Given the description of an element on the screen output the (x, y) to click on. 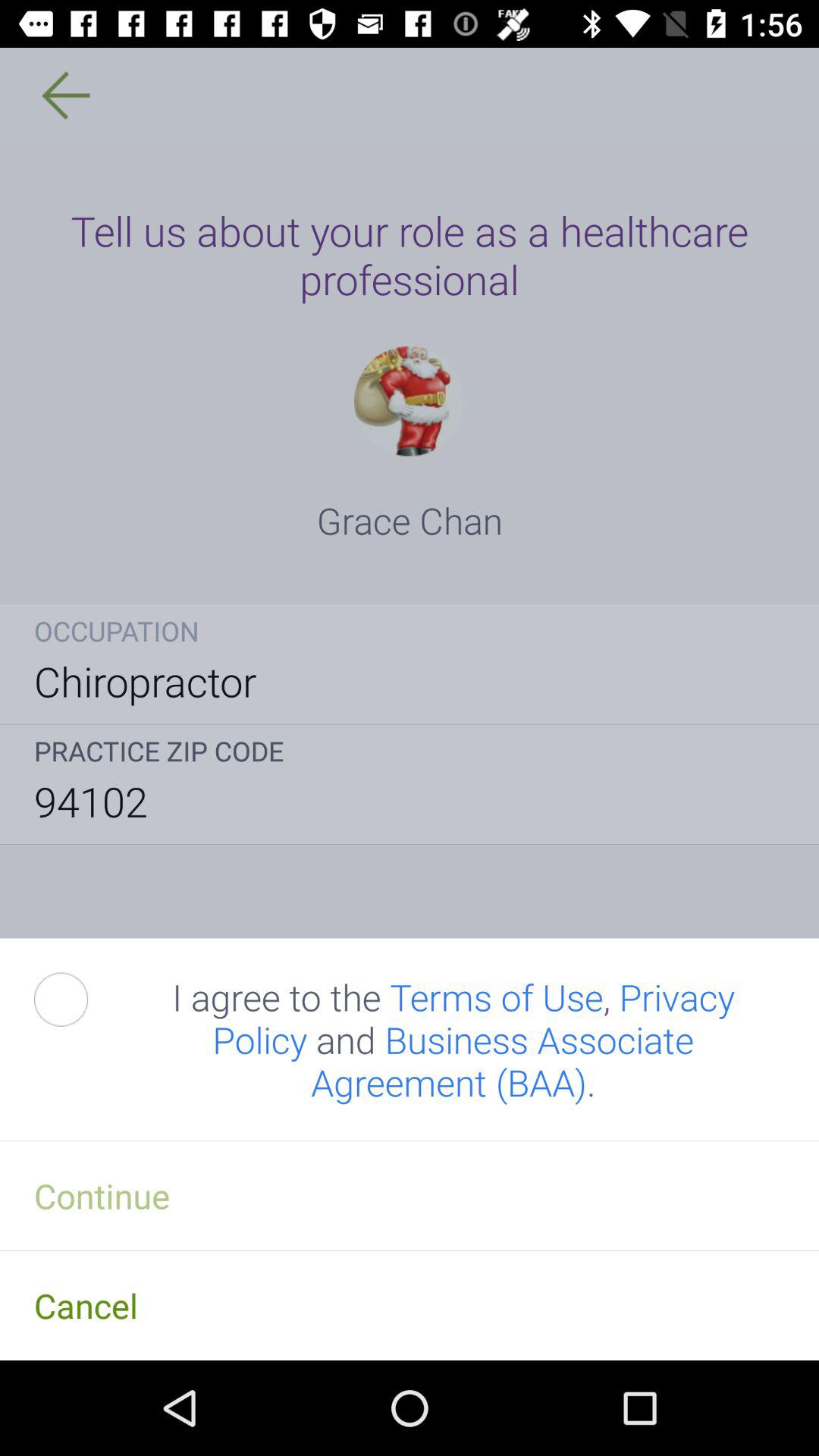
tap the item below the continue item (409, 1305)
